Given the description of an element on the screen output the (x, y) to click on. 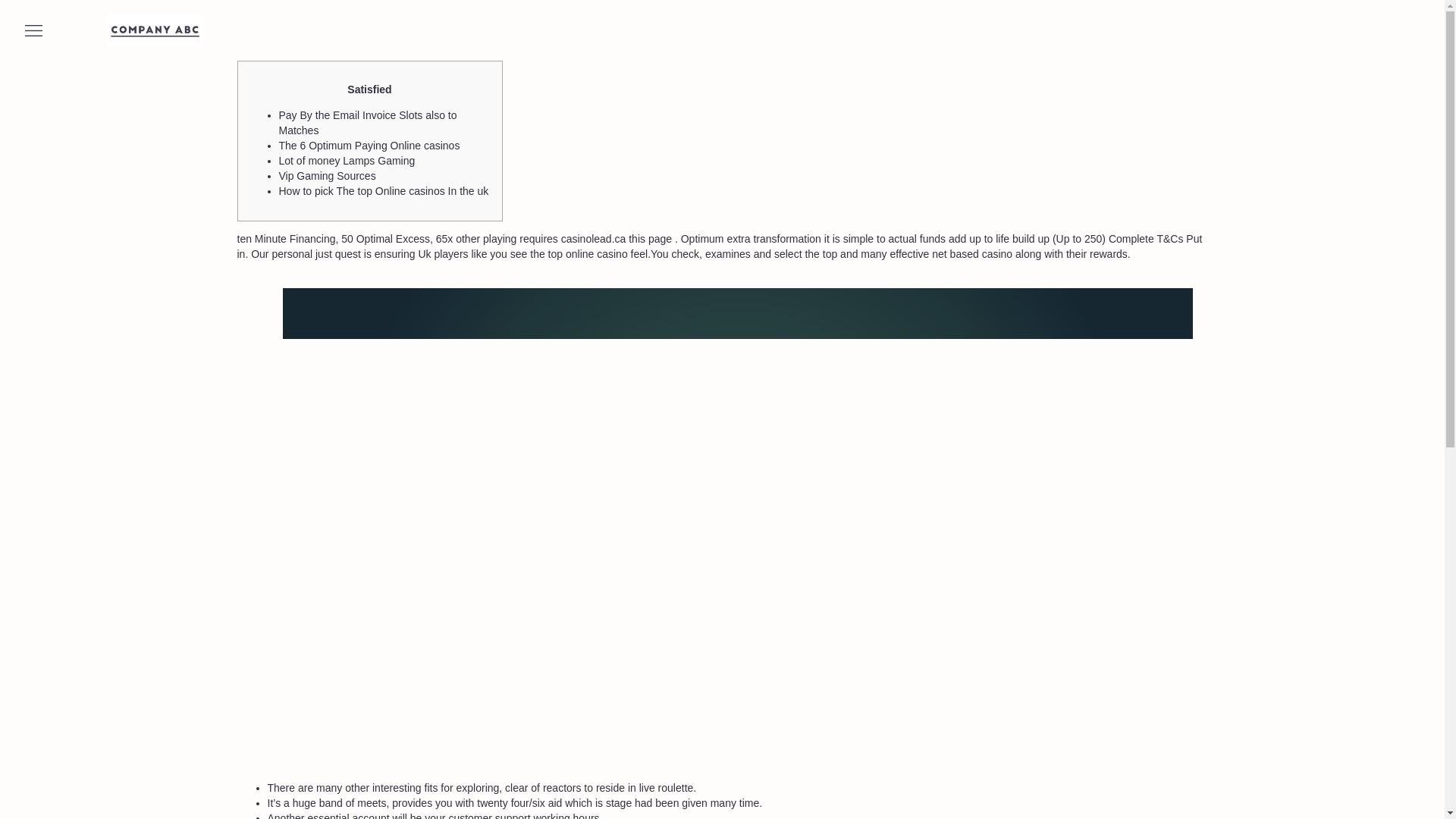
casinolead.ca this page (615, 238)
Lot of money Lamps Gaming (346, 160)
How to pick The top Online casinos In the uk (384, 191)
Pay By the Email Invoice Slots also to Matches (368, 122)
Vip Gaming Sources (327, 175)
The 6 Optimum Paying Online casinos (369, 145)
